Given the description of an element on the screen output the (x, y) to click on. 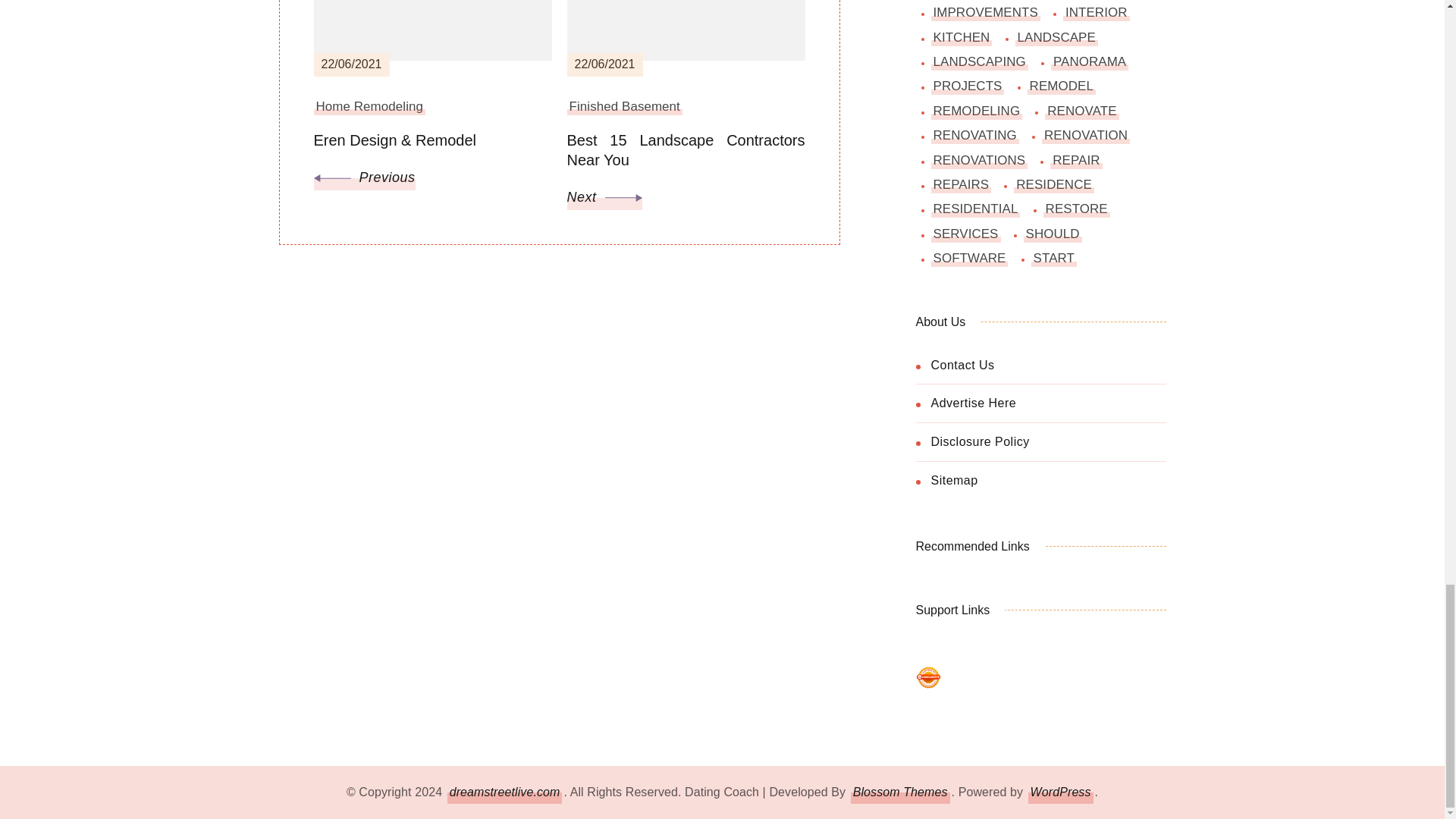
Seedbacklink (927, 677)
